Given the description of an element on the screen output the (x, y) to click on. 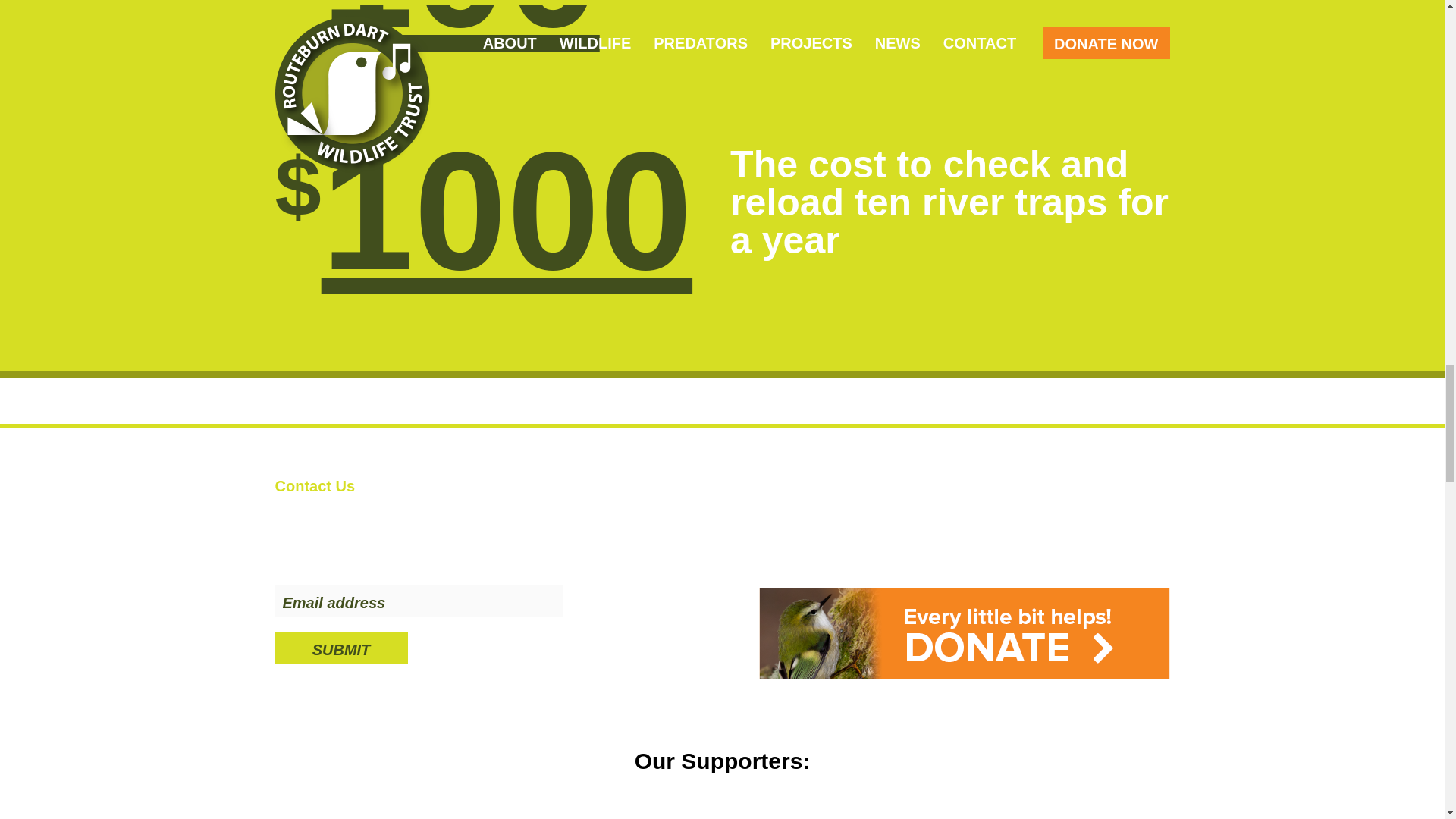
SUBMIT (341, 648)
SUBMIT (341, 648)
